Given the description of an element on the screen output the (x, y) to click on. 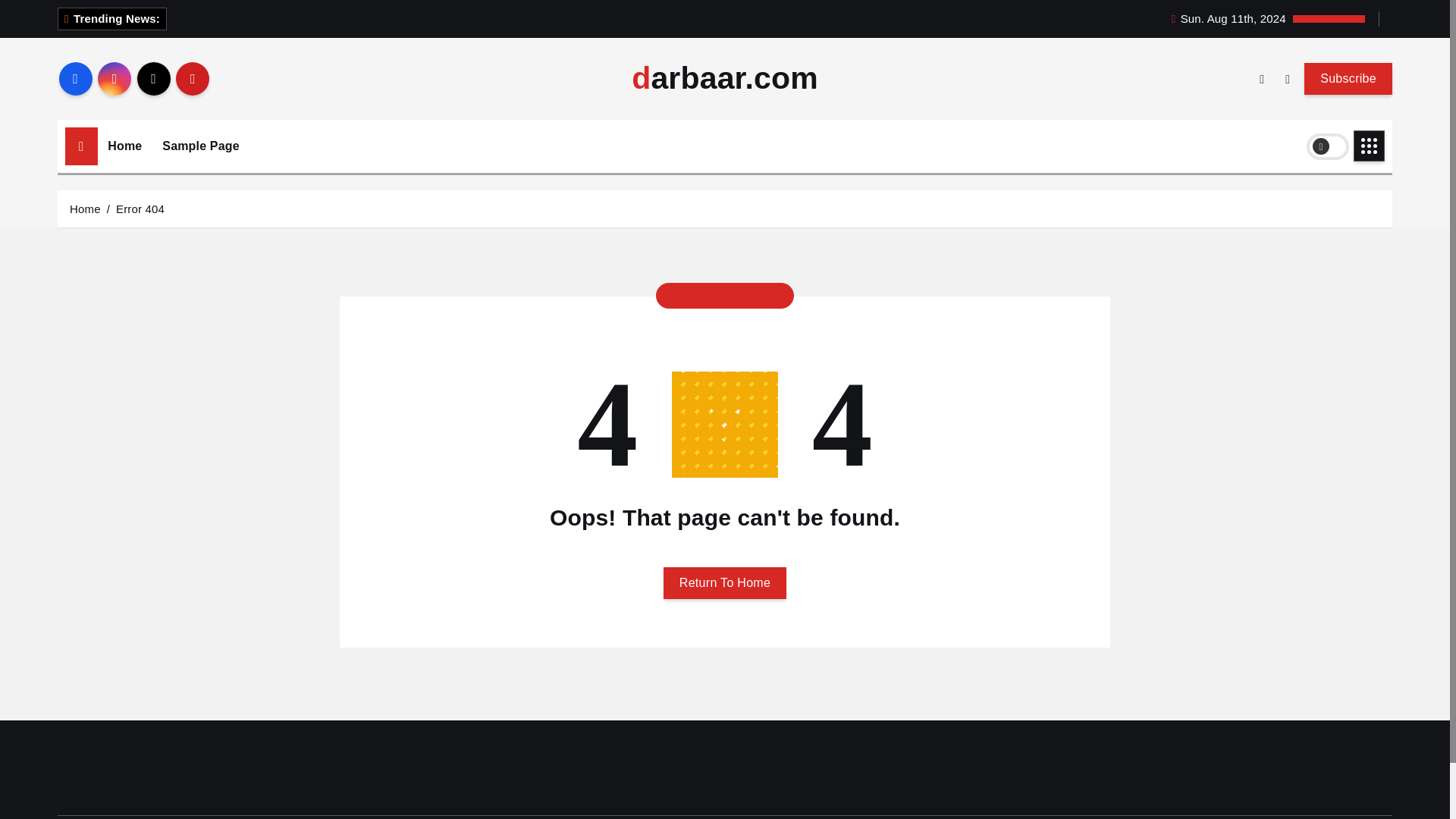
Home (84, 207)
Error 404 (140, 207)
Sample Page (200, 146)
Home (124, 146)
darbaar.com (724, 78)
Subscribe (1347, 78)
Return To Home (724, 582)
Home (124, 146)
